Given the description of an element on the screen output the (x, y) to click on. 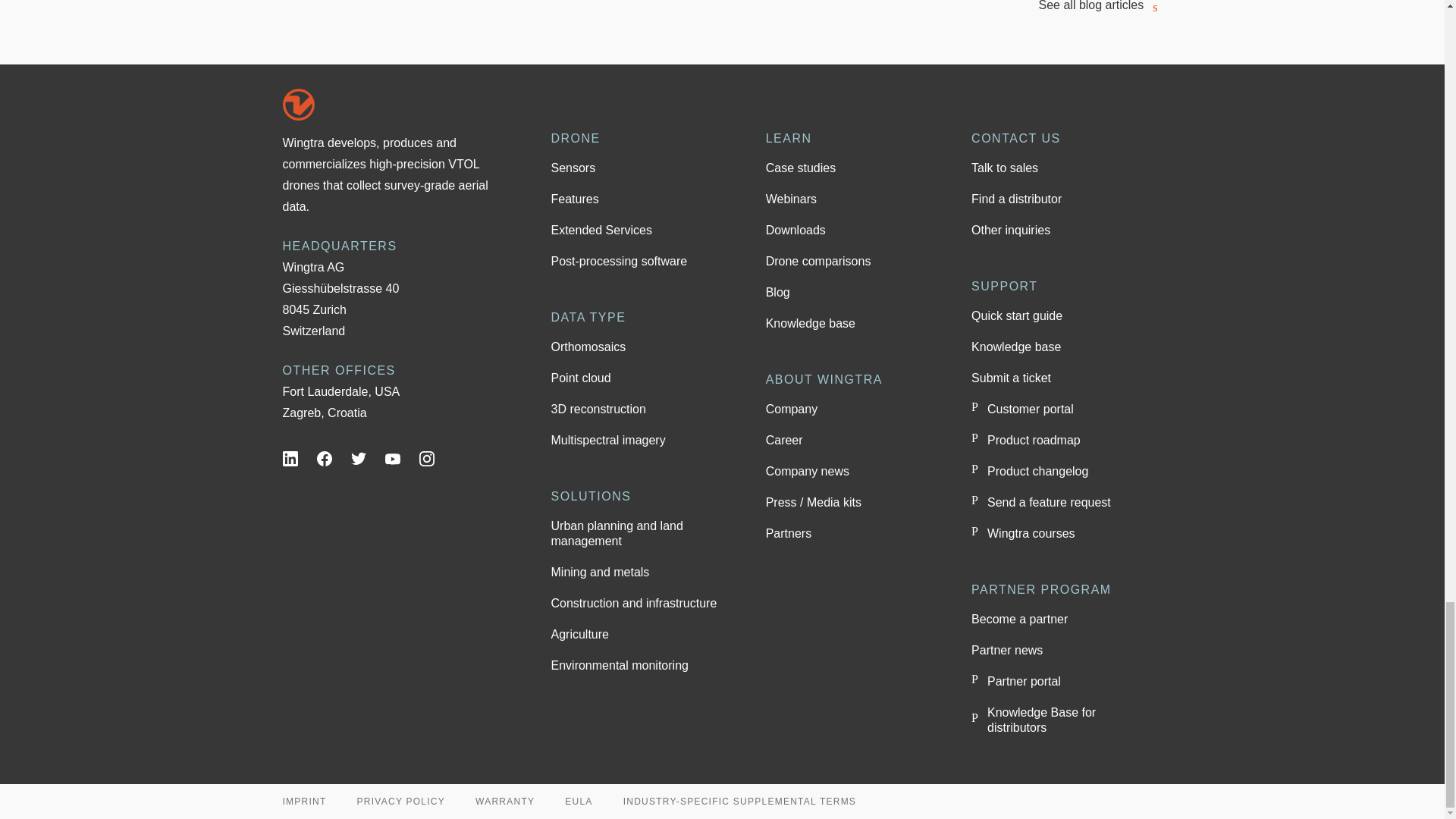
wingtralogoshort2x.png (298, 104)
